Given the description of an element on the screen output the (x, y) to click on. 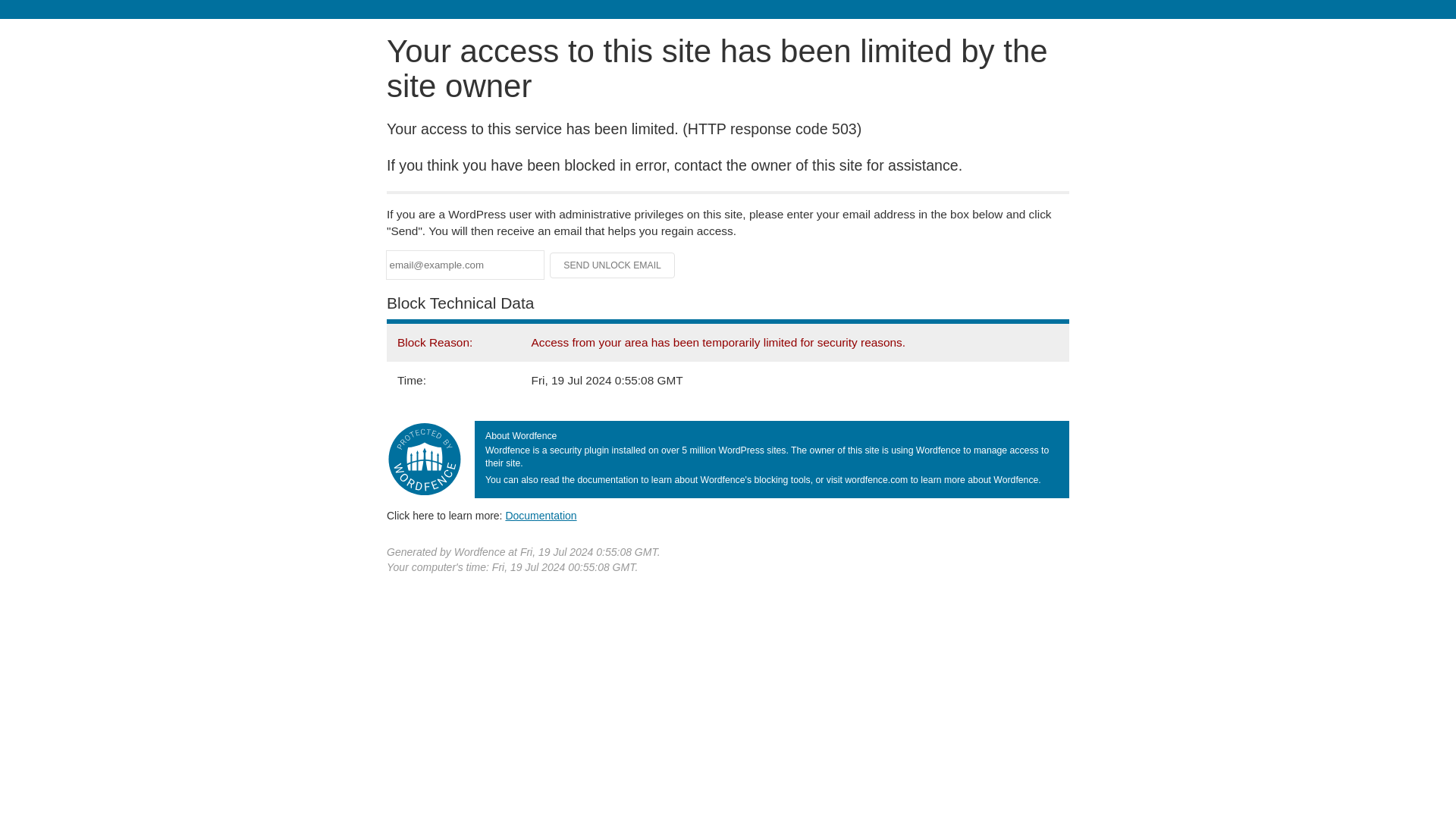
Send Unlock Email (612, 265)
Send Unlock Email (612, 265)
Documentation (540, 515)
